Given the description of an element on the screen output the (x, y) to click on. 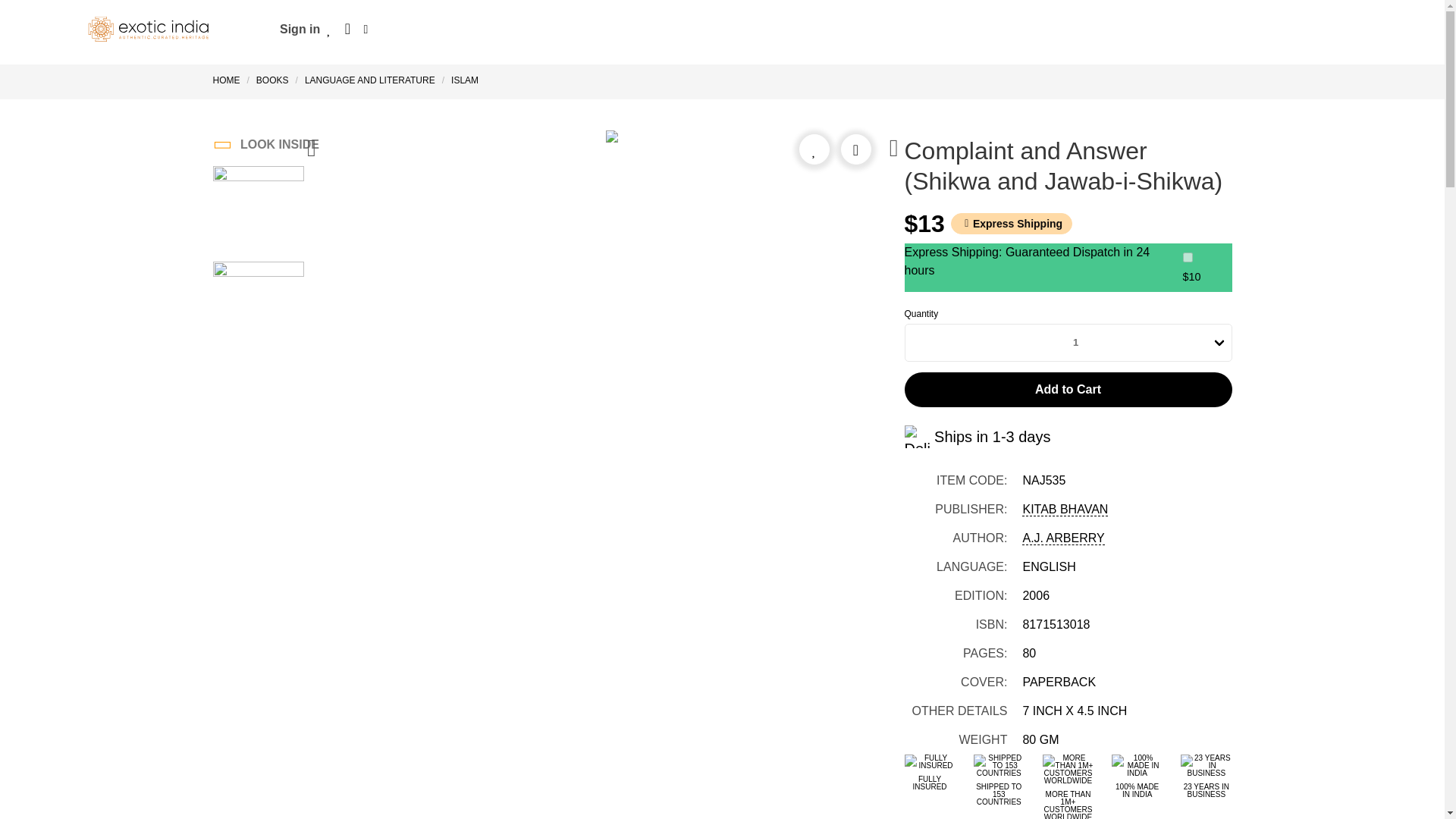
Islam (464, 79)
KITAB BHAVAN (1065, 509)
BOOKS (271, 79)
Books (271, 79)
Wishlist (328, 29)
Home (229, 79)
Sign in (299, 29)
A.J. ARBERRY (1062, 538)
